Given the description of an element on the screen output the (x, y) to click on. 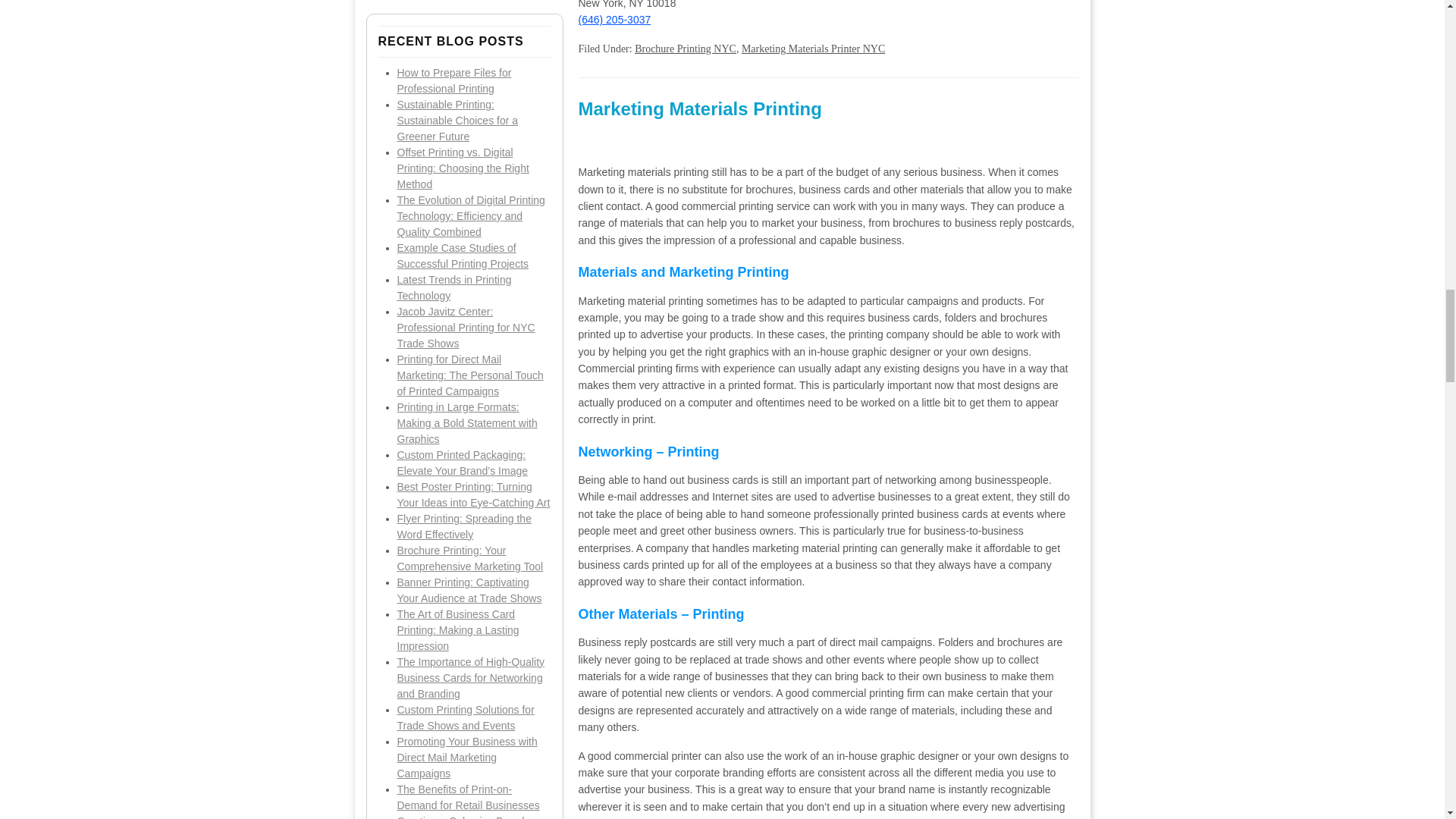
Promoting Your Business with Direct Mail Marketing Campaigns (467, 757)
Example Case Studies of Successful Printing Projects (463, 255)
Brochure Printing: Your Comprehensive Marketing Tool (470, 558)
Custom Printing Solutions for Trade Shows and Events (465, 717)
Latest Trends in Printing Technology (454, 287)
Marketing Materials Printing (699, 108)
Banner Printing: Captivating Your Audience at Trade Shows (469, 590)
